Given the description of an element on the screen output the (x, y) to click on. 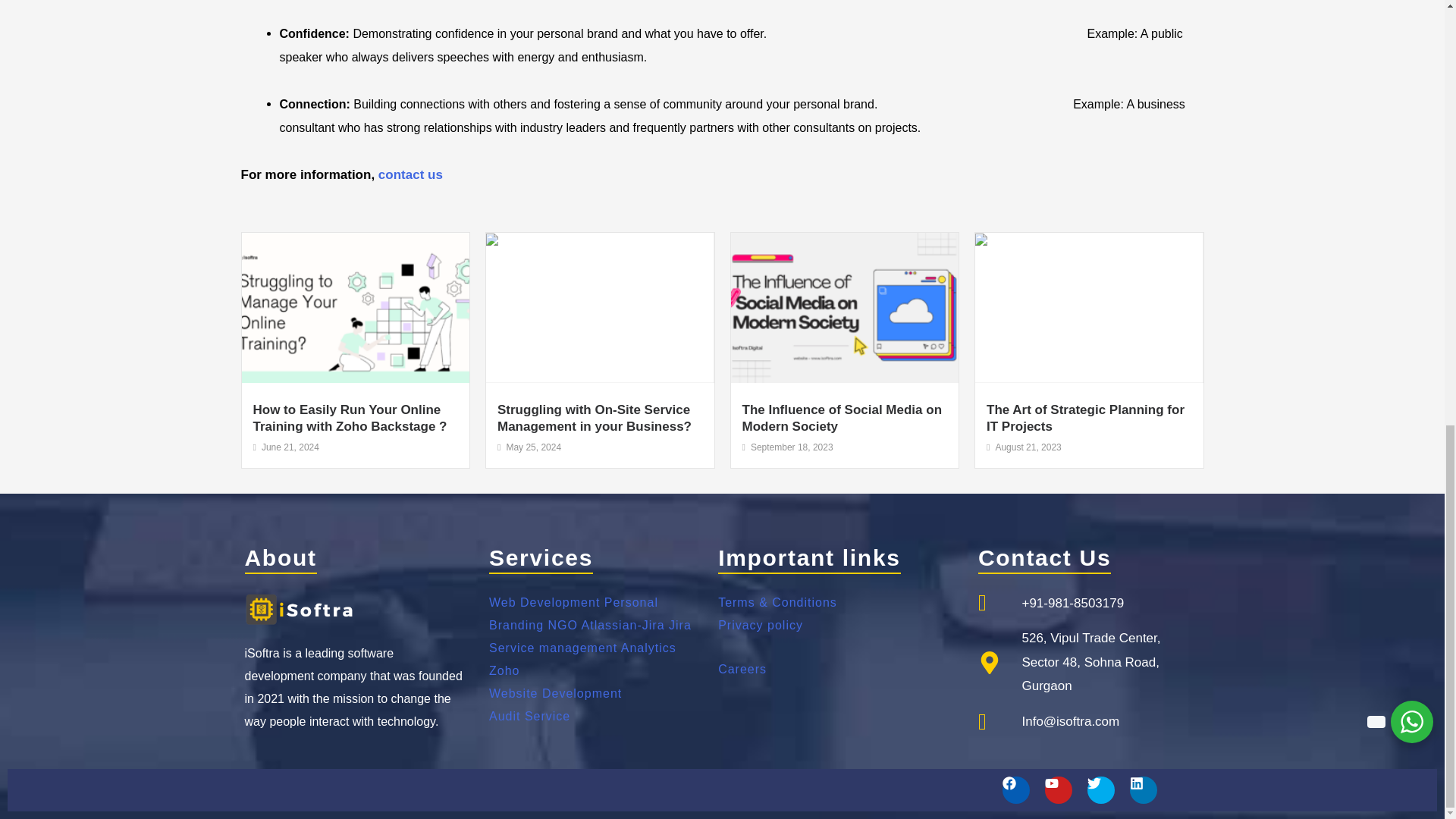
How to Easily Run Your Online Training with Zoho Backstage ? (349, 418)
The Influence of Social Media on Modern Society (841, 418)
The Art of Strategic Planning for IT Projects (1086, 418)
contact us (410, 174)
Struggling with On-Site Service Management in your Business? (594, 418)
